Given the description of an element on the screen output the (x, y) to click on. 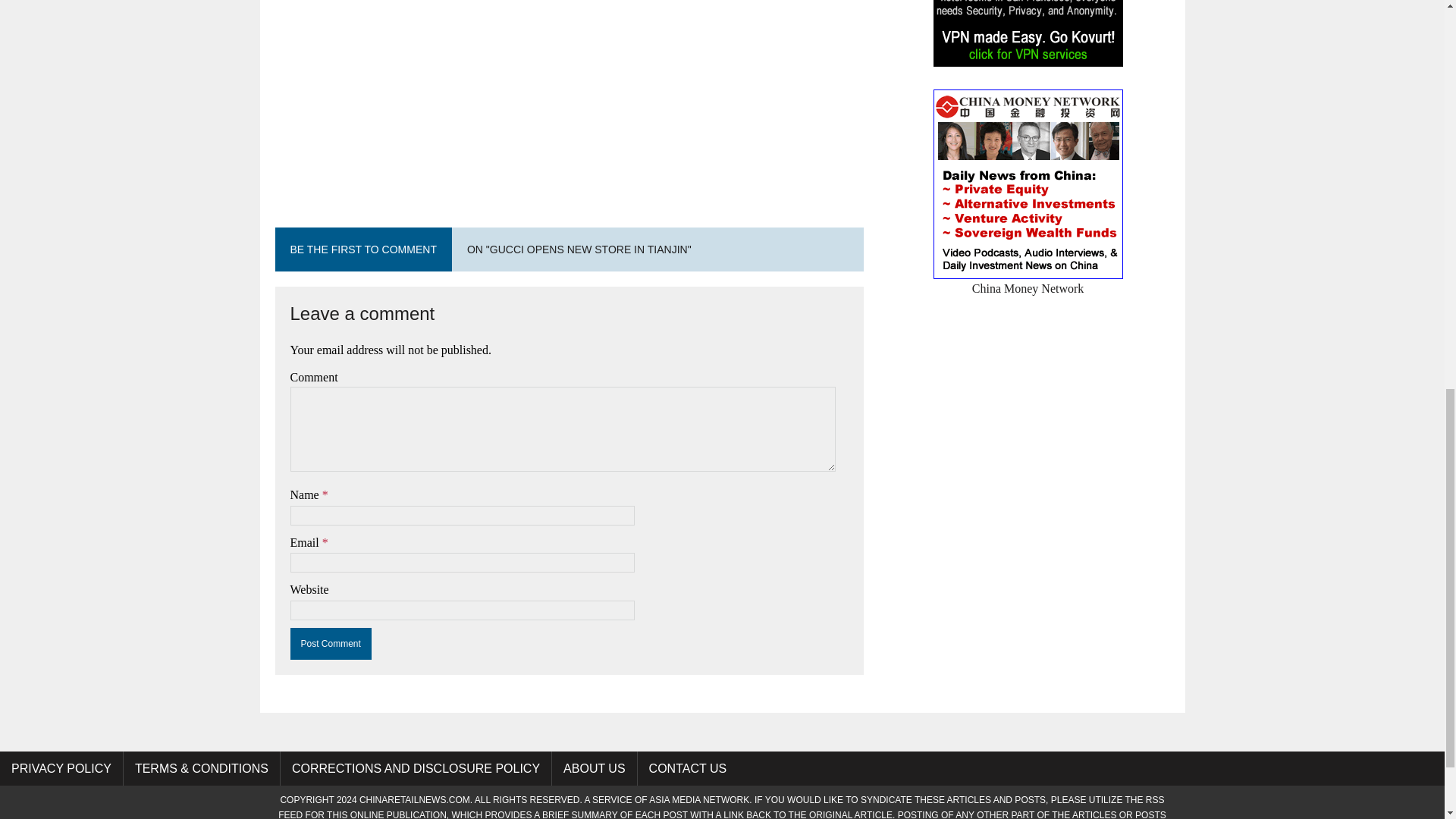
China Money Network - Finance and Investment News Daily (1027, 278)
Advertisement (569, 94)
Post Comment (330, 644)
China Money Network (1027, 278)
Post Comment (330, 644)
Asia Media Network (699, 799)
